Given the description of an element on the screen output the (x, y) to click on. 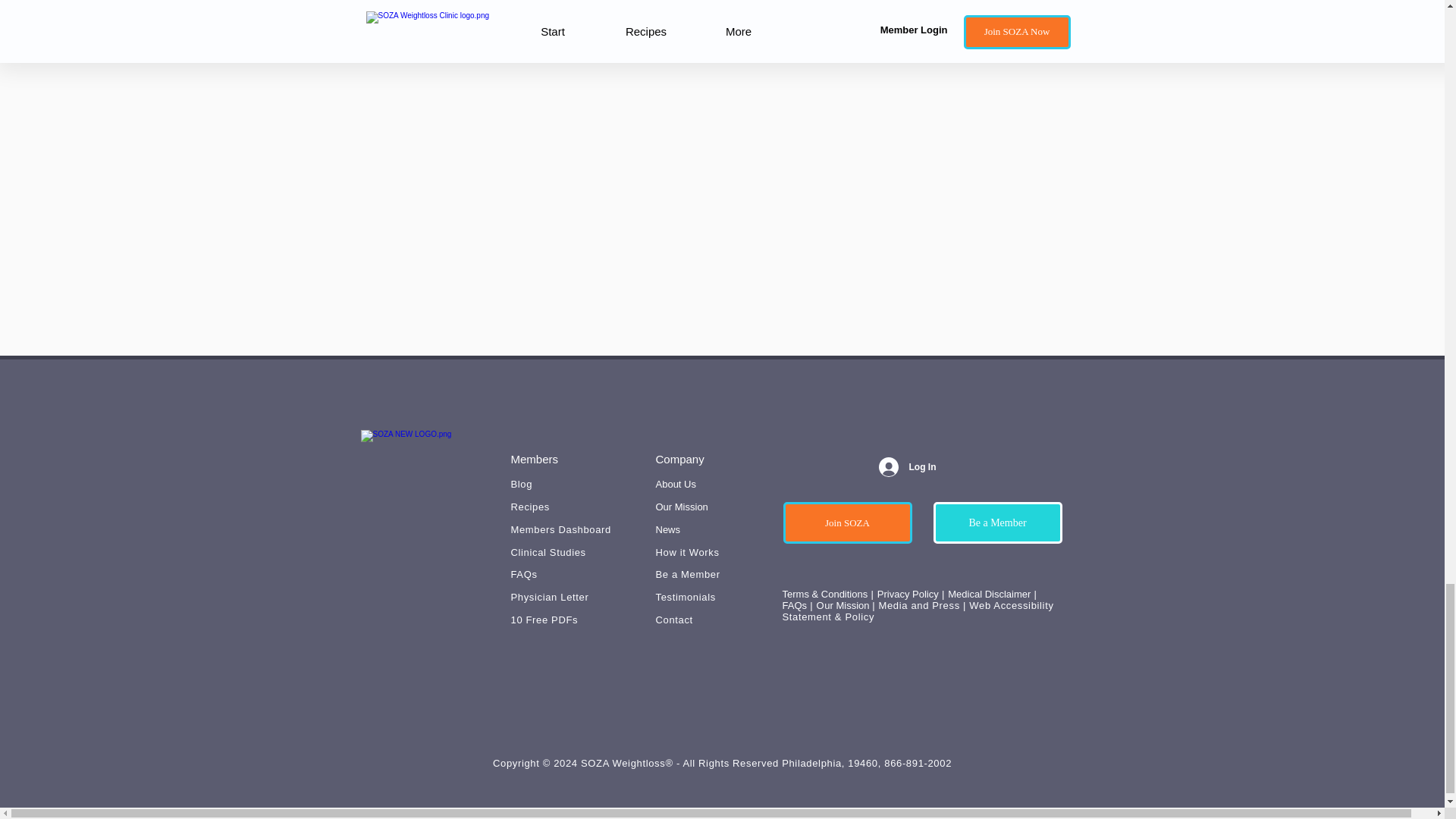
Recipes (530, 506)
Physician Letter (550, 596)
10 Free PDFs (544, 619)
About Us (675, 483)
Clinical Studies (548, 552)
Blog (521, 483)
FAQs (524, 573)
Our Mission (681, 506)
Members Dashboard (561, 529)
